Given the description of an element on the screen output the (x, y) to click on. 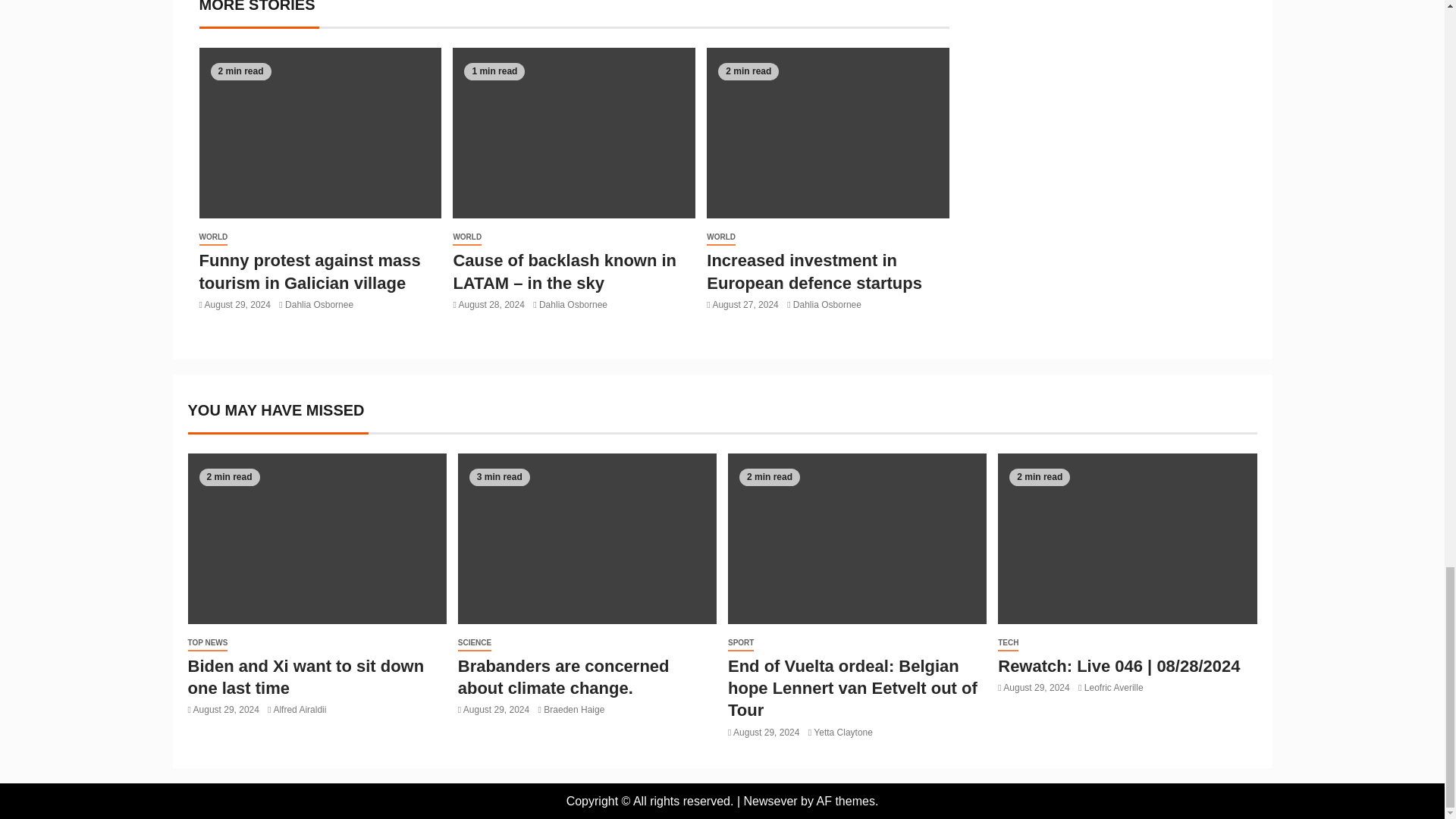
WORLD (720, 237)
Dahlia Osbornee (319, 304)
Dahlia Osbornee (572, 304)
Increased investment in European defence startups (813, 270)
Funny protest against mass tourism in Galician village (309, 270)
WORLD (466, 237)
WORLD (212, 237)
